Given the description of an element on the screen output the (x, y) to click on. 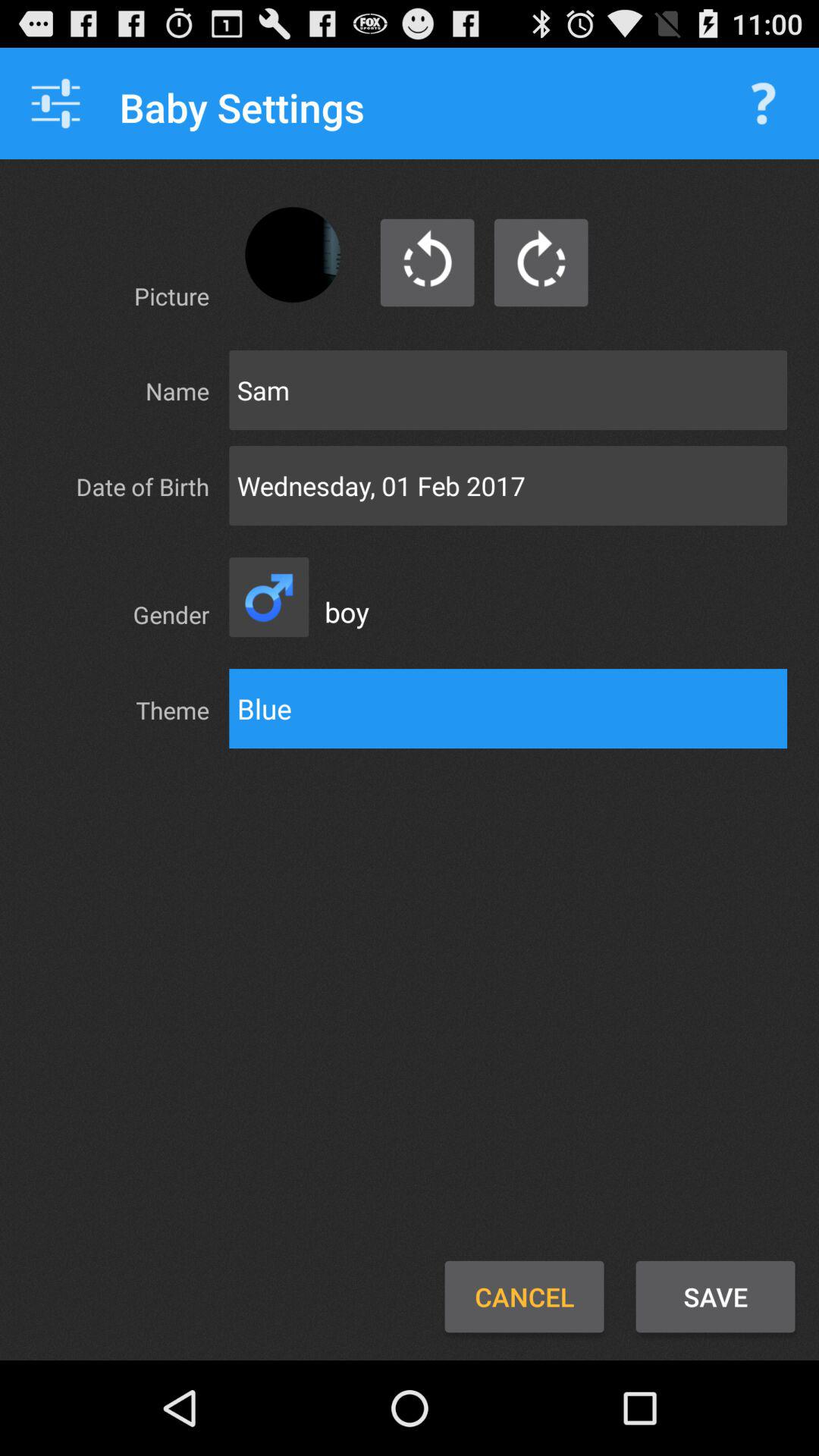
move to next (541, 262)
